Given the description of an element on the screen output the (x, y) to click on. 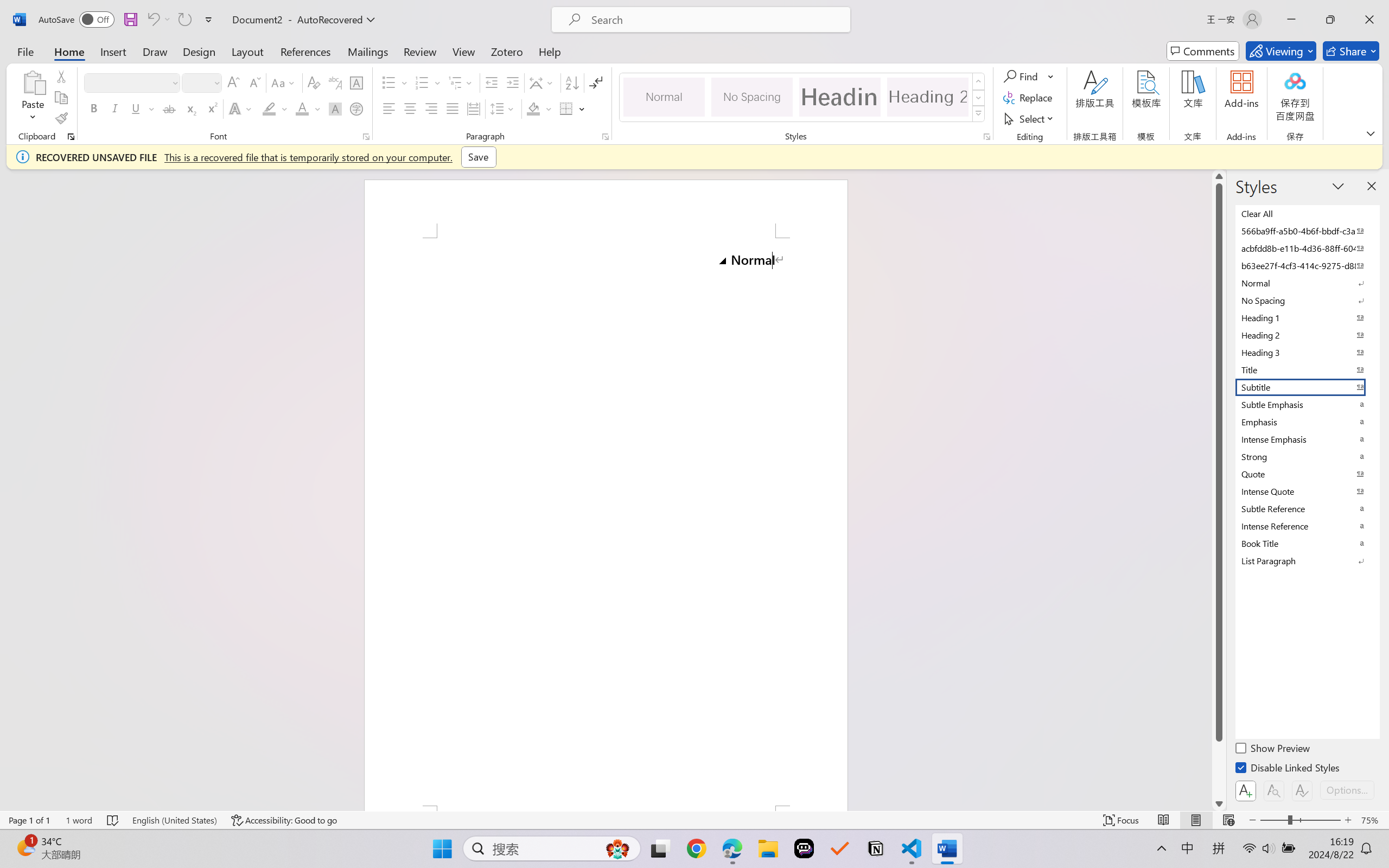
Intense Reference (1306, 525)
b63ee27f-4cf3-414c-9275-d88e3f90795e (1306, 265)
Subtle Reference (1306, 508)
No Spacing (1306, 300)
Class: NetUIButton (1301, 790)
Text Effects and Typography (241, 108)
Strikethrough (169, 108)
AutomationID: QuickStylesGallery (802, 97)
Align Right (431, 108)
